Given the description of an element on the screen output the (x, y) to click on. 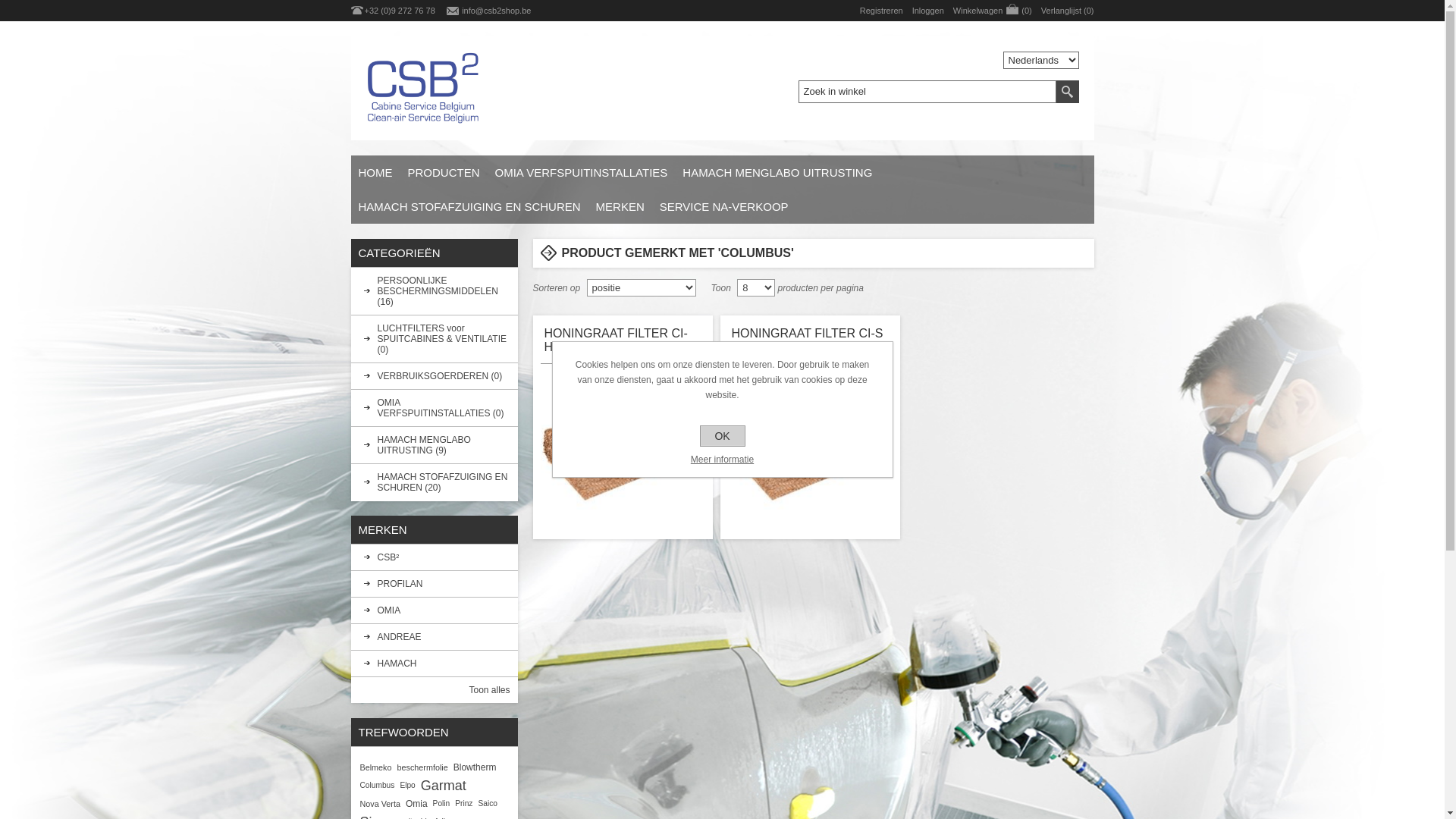
Blowtherm Element type: text (474, 767)
HOME Element type: text (374, 172)
HAMACH MENGLABO UITRUSTING (9) Element type: text (433, 445)
Toon details van HONINGRAAT FILTER CI-HC Element type: hover (622, 447)
SERVICE NA-VERKOOP Element type: text (724, 206)
PERSOONLIJKE BESCHERMINGSMIDDELEN (16) Element type: text (433, 290)
OMIA VERFSPUITINSTALLATIES (0) Element type: text (433, 407)
LUCHTFILTERS voor SPUITCABINES & VENTILATIE (0) Element type: text (433, 338)
Toon details van HONINGRAAT FILTER CI-S Element type: hover (811, 447)
Nova Verta Element type: text (379, 803)
Inloggen Element type: text (928, 10)
Columbus Element type: text (376, 785)
HAMACH Element type: text (433, 663)
ANDREAE Element type: text (433, 636)
Omia Element type: text (416, 803)
OMIA Element type: text (433, 610)
HAMACH STOFAFZUIGING EN SCHUREN Element type: text (468, 206)
info@csb2shop.be Element type: text (495, 10)
Meer informatie Element type: text (721, 459)
Prinz Element type: text (463, 803)
Elpo Element type: text (406, 785)
Polin Element type: text (441, 803)
HONINGRAAT FILTER CI-HC Element type: text (622, 340)
MERKEN Element type: text (620, 206)
HAMACH MENGLABO UITRUSTING Element type: text (776, 172)
Verlanglijst (0) Element type: text (1067, 10)
Registreren Element type: text (881, 10)
HAMACH STOFAFZUIGING EN SCHUREN (20) Element type: text (433, 482)
Garmat Element type: text (443, 785)
VERBRUIKSGOERDEREN (0) Element type: text (433, 375)
Winkelwagen (0) Element type: text (992, 10)
Belmeko Element type: text (375, 767)
HONINGRAAT FILTER CI-S Element type: text (809, 340)
Toon alles Element type: text (488, 689)
PRODUCTEN Element type: text (443, 172)
Saico Element type: text (486, 803)
Zoek Element type: text (1066, 91)
OK Element type: text (721, 435)
beschermfolie Element type: text (422, 767)
PROFILAN Element type: text (433, 583)
OMIA VERFSPUITINSTALLATIES Element type: text (581, 172)
